Given the description of an element on the screen output the (x, y) to click on. 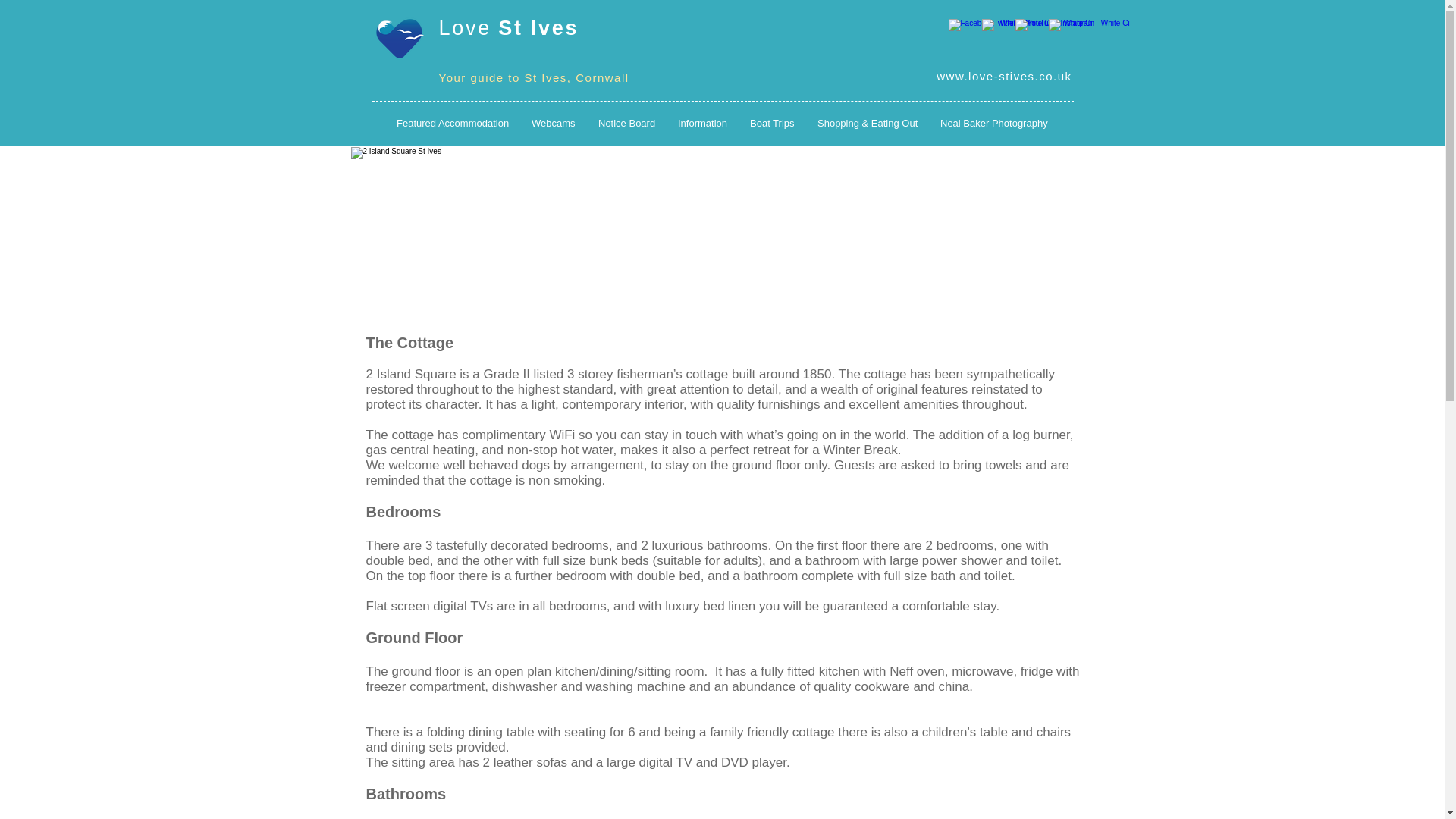
www.love-stives.co.uk (1003, 75)
Featured Accommodation (452, 123)
Your guide to St Ives, Cornwall (533, 77)
Webcams (552, 123)
Home (398, 38)
